Given the description of an element on the screen output the (x, y) to click on. 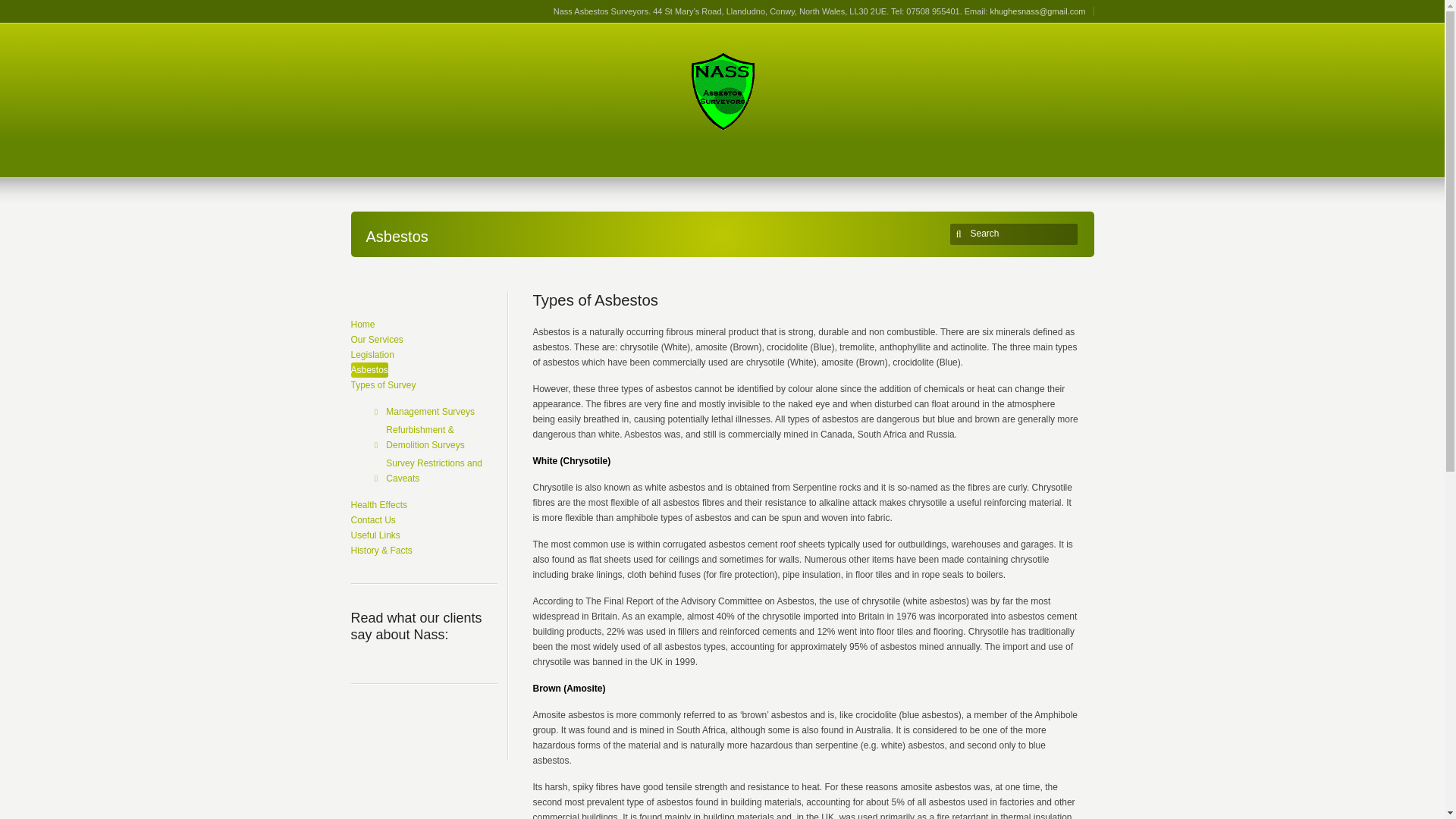
Health Effects (378, 504)
Search (1016, 233)
Legislation (371, 354)
Our Services (376, 339)
Useful Links (374, 534)
Survey Restrictions and Caveats (441, 470)
Home (362, 324)
Contact Us (372, 519)
Management Surveys (429, 411)
Types of Survey (382, 385)
